Given the description of an element on the screen output the (x, y) to click on. 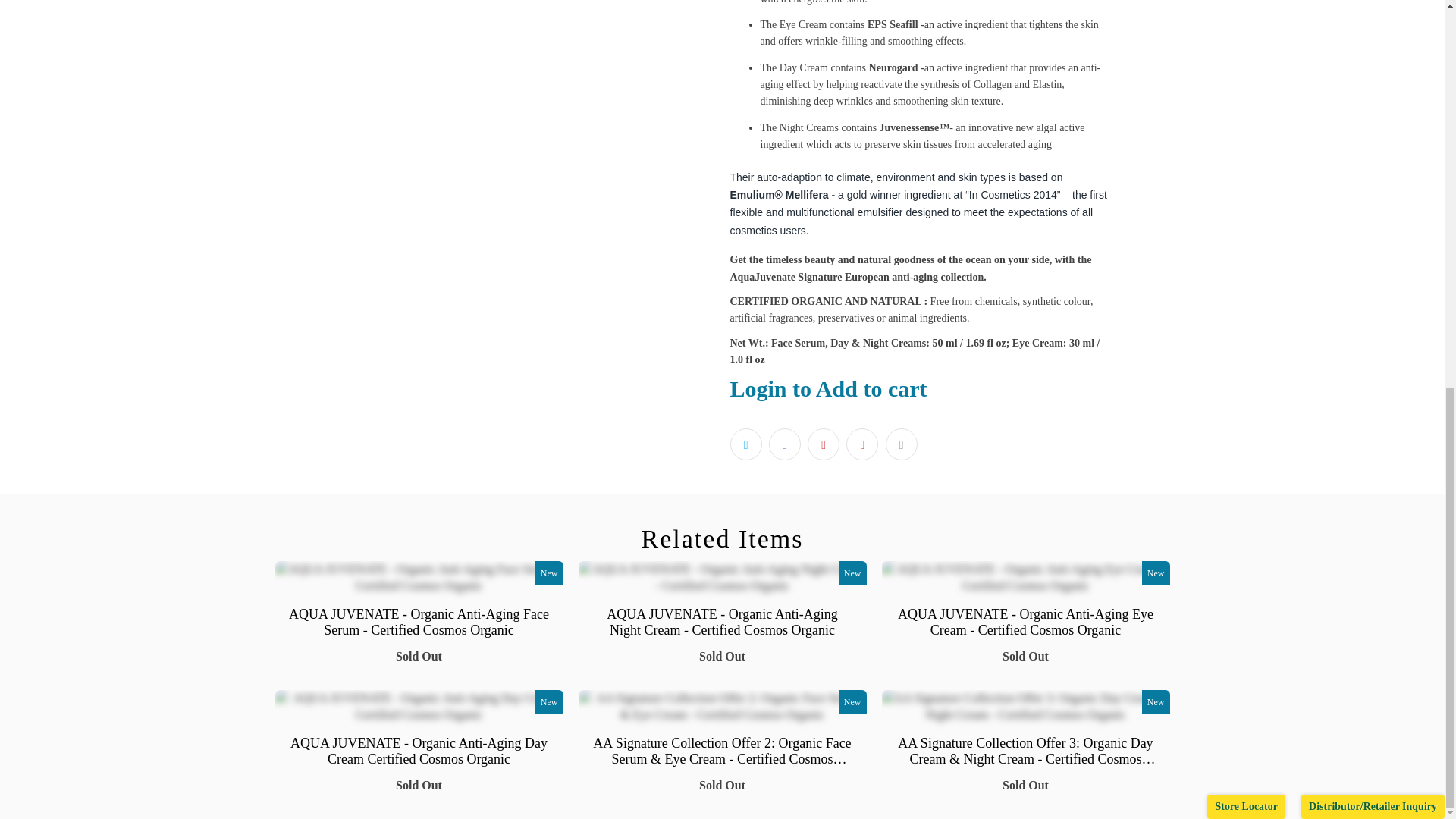
Share this on Twitter (745, 444)
Share this on Pinterest (824, 444)
Email this to a friend (901, 444)
Share this on Facebook (784, 444)
Store Locator (1246, 72)
